Given the description of an element on the screen output the (x, y) to click on. 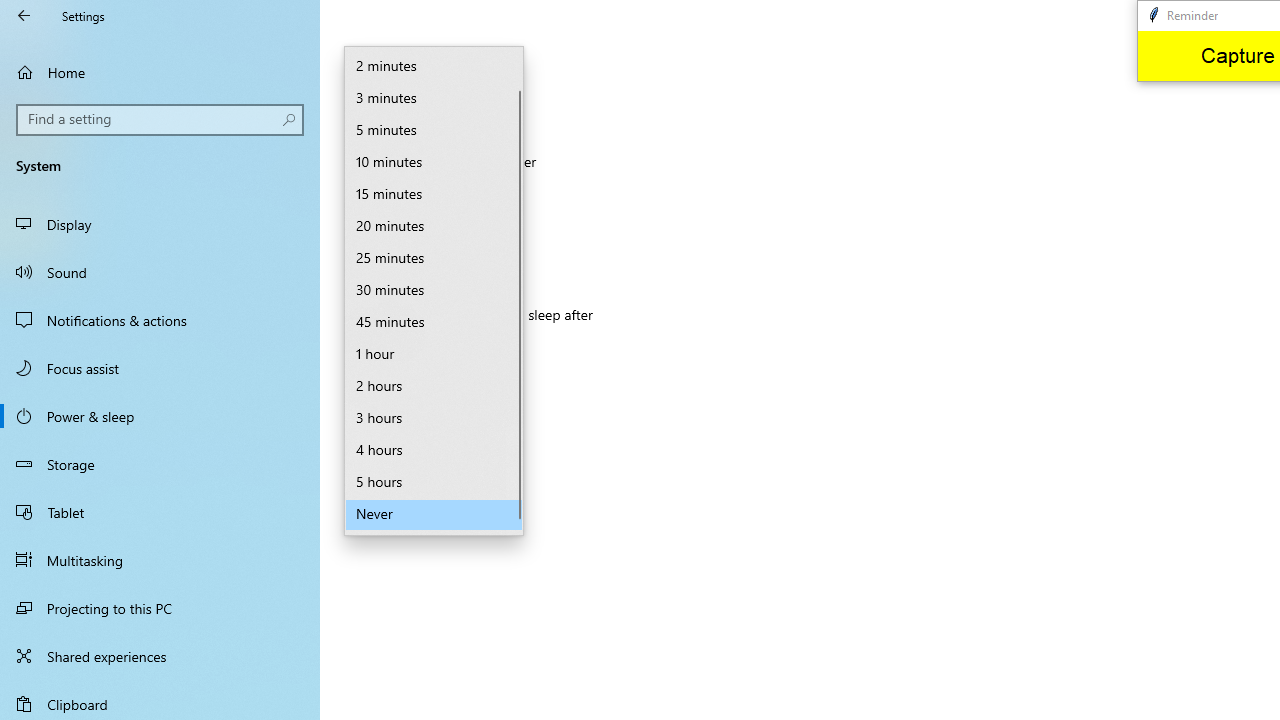
5 minutes (434, 130)
Multitasking (160, 559)
30 minutes (434, 290)
45 minutes (434, 322)
Display (160, 223)
Focus assist (160, 367)
25 minutes (434, 259)
2 minutes (434, 66)
Shared experiences (160, 655)
10 minutes (434, 162)
Notifications & actions (160, 319)
15 minutes (434, 194)
Storage (160, 463)
1 minute (434, 48)
